Given the description of an element on the screen output the (x, y) to click on. 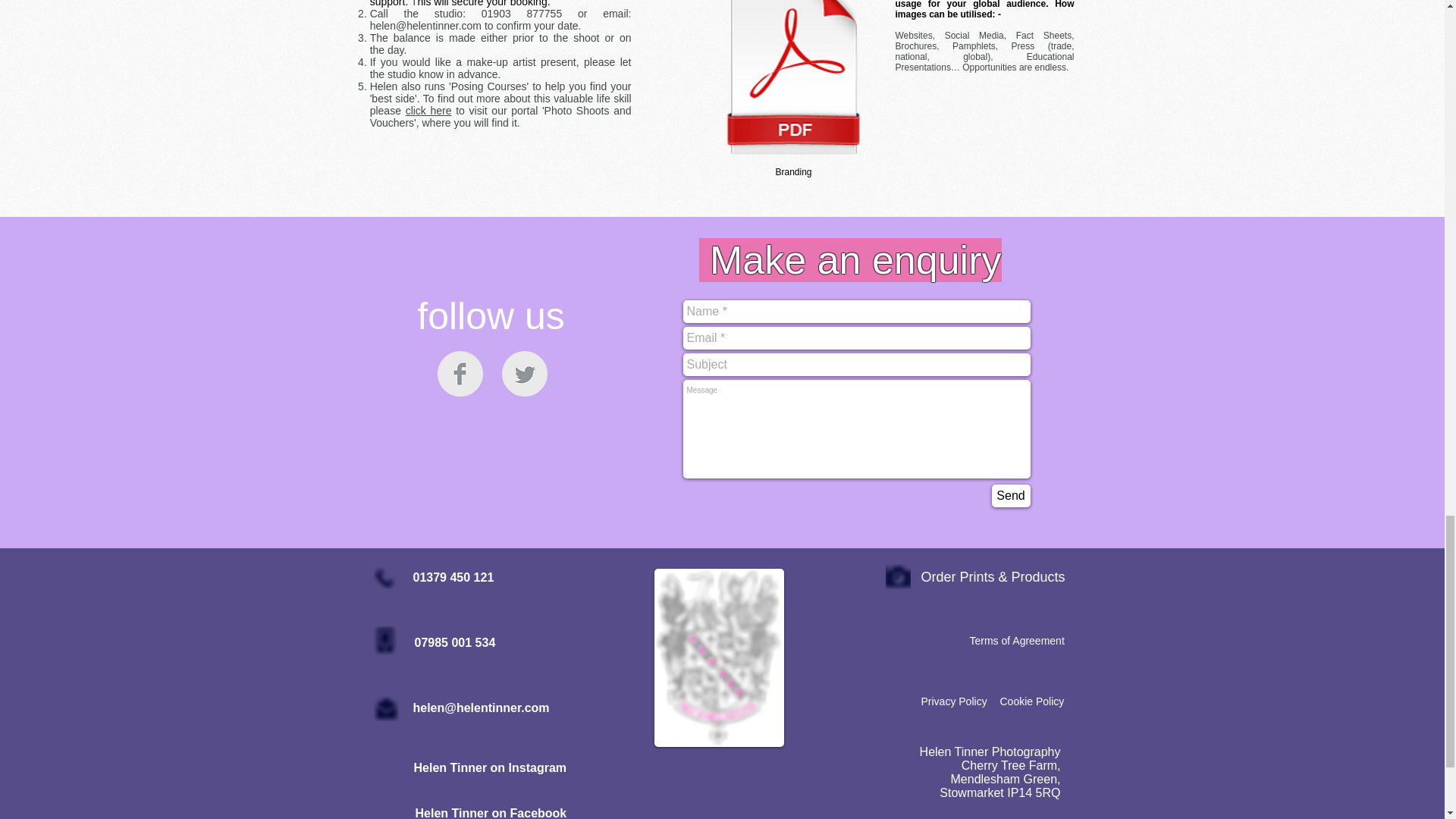
Branding (793, 91)
